Given the description of an element on the screen output the (x, y) to click on. 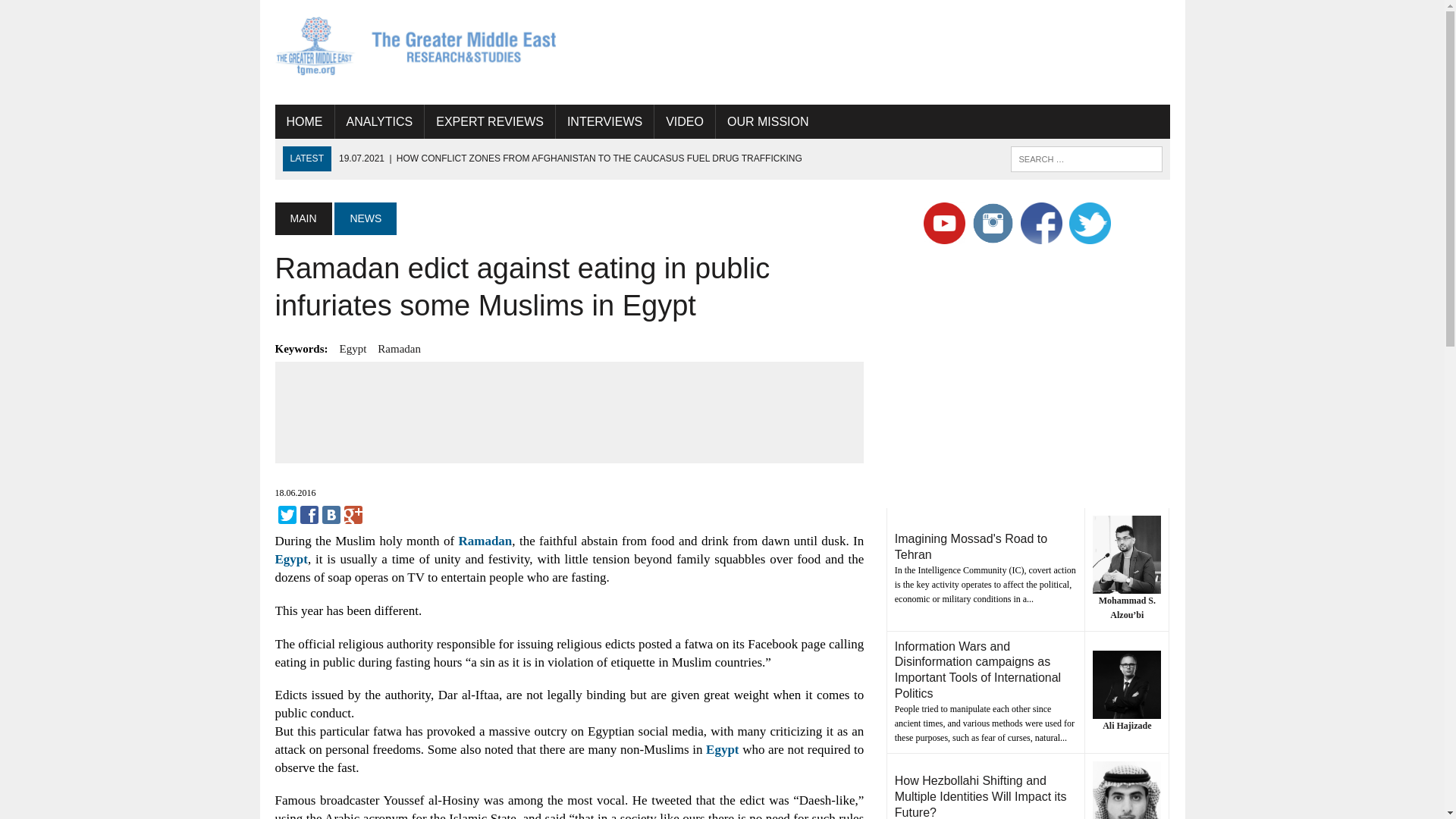
Google Plus (352, 515)
VIDEO (683, 121)
NEWS (365, 218)
HOME (304, 121)
Advertisement (569, 409)
INTERVIEWS (604, 121)
Twitter (286, 515)
Egypt (722, 749)
EXPERT REVIEWS (489, 121)
Egypt (352, 348)
MAIN (303, 218)
Egypt (291, 559)
Ramadan (398, 348)
The Greater Middle East (416, 45)
